Given the description of an element on the screen output the (x, y) to click on. 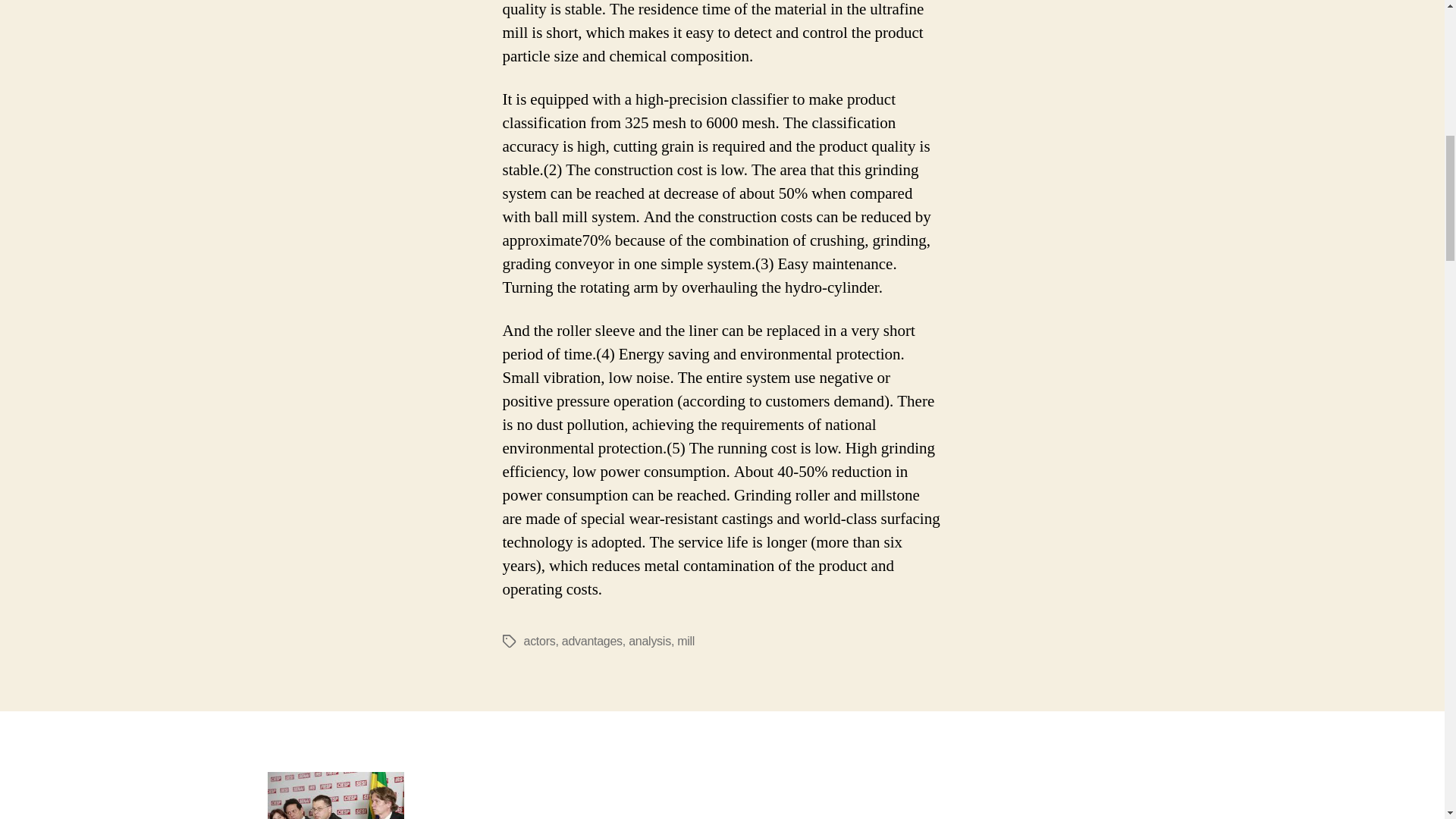
analysis (649, 640)
advantages (592, 640)
actors (538, 640)
mill (685, 640)
